Given the description of an element on the screen output the (x, y) to click on. 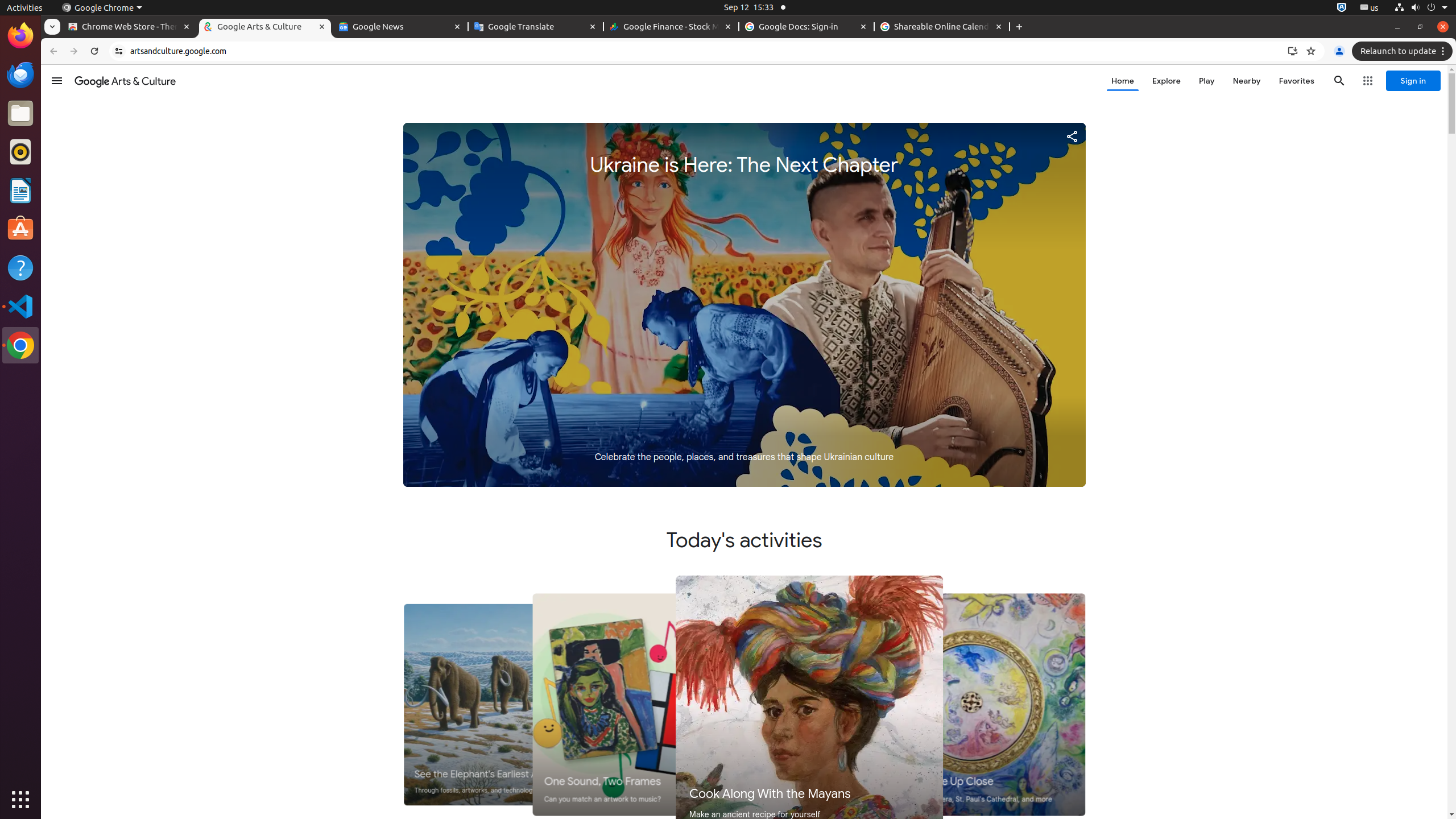
Show Applications Element type: toggle-button (20, 799)
Play Element type: link (1206, 80)
Reload Element type: push-button (94, 50)
Firefox Web Browser Element type: push-button (20, 35)
Share "Ukraine is Here: The Next Chapter" Element type: push-button (1071, 136)
